Given the description of an element on the screen output the (x, y) to click on. 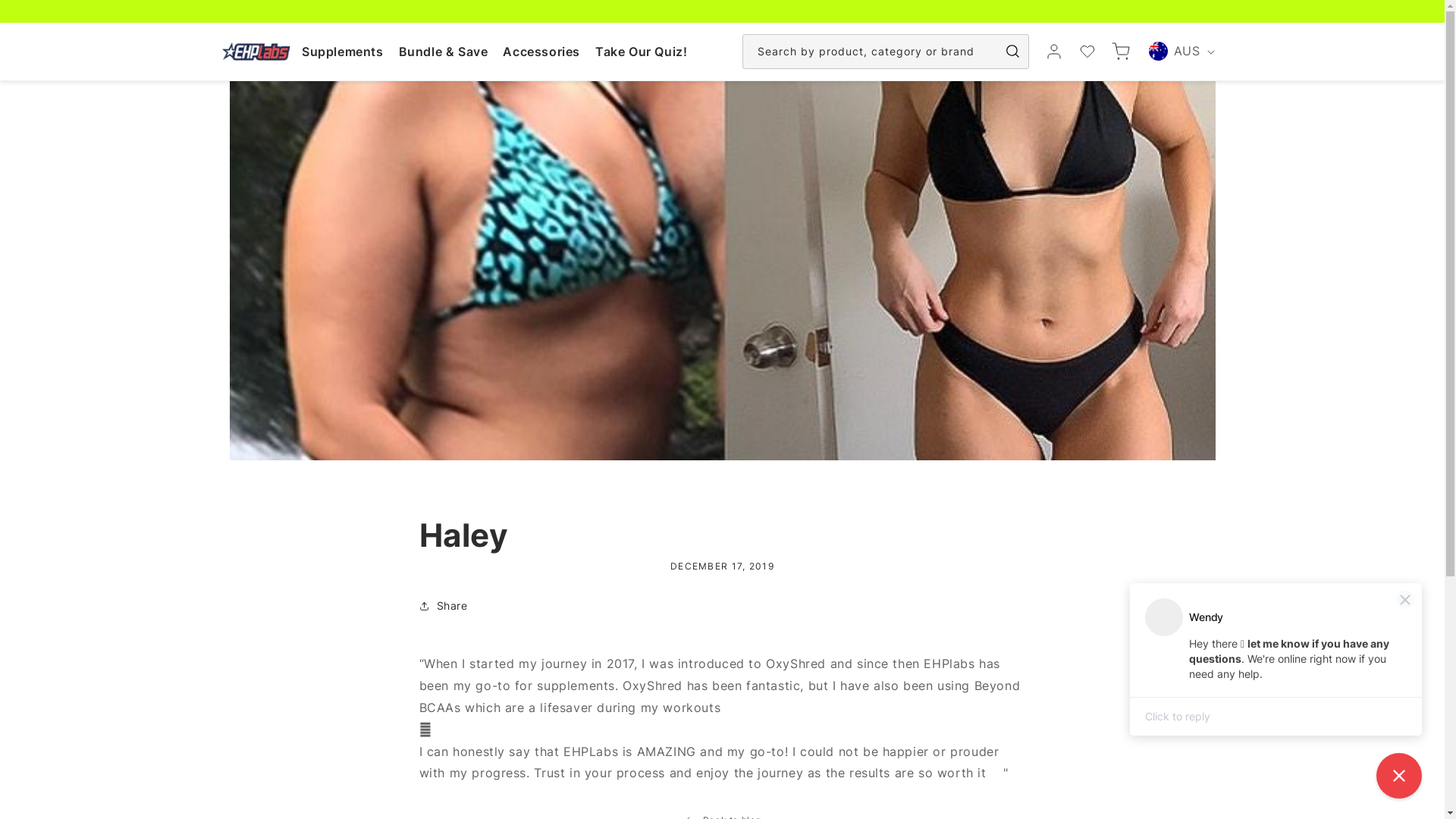
Take Our Quiz! Element type: text (641, 51)
https://ehplabs.com.au/blogs/transformations/haley Element type: text (509, 655)
Cart Element type: text (1120, 51)
Gorgias live chat campaigns Element type: hover (1275, 662)
Gorgias live chat messenger Element type: hover (1398, 775)
Accessories Element type: text (541, 51)
Supplements Element type: text (342, 51)
Bundle & Save Element type: text (443, 51)
